Given the description of an element on the screen output the (x, y) to click on. 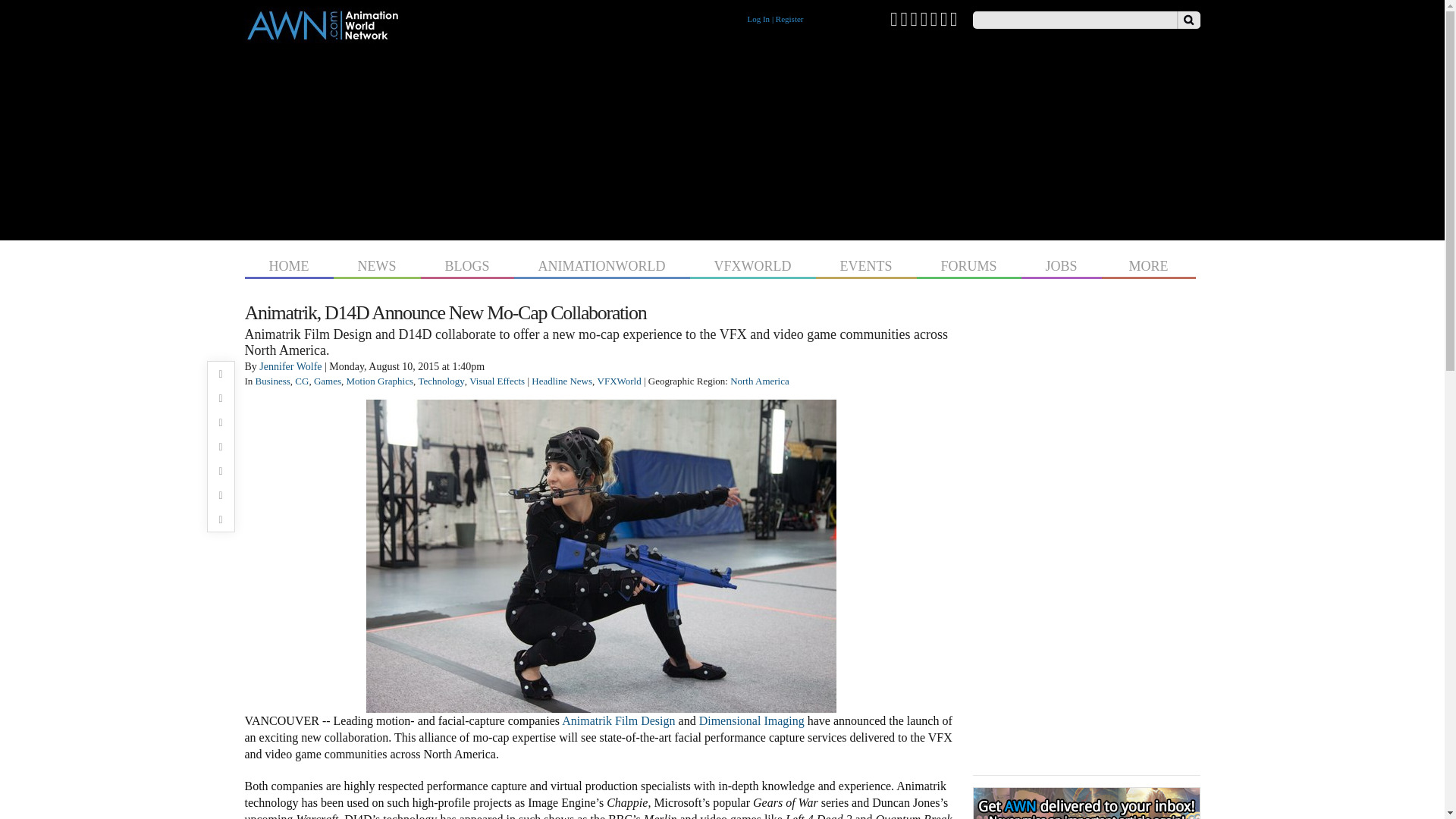
ANIMATIONWORLD (601, 263)
Enter the terms you wish to search for. (1074, 19)
Business (272, 380)
Search (1187, 19)
3rd party ad content (722, 137)
HOME (288, 263)
Skip to main content (693, 1)
Technology (440, 380)
Log In (758, 18)
BLOGS (466, 263)
